Given the description of an element on the screen output the (x, y) to click on. 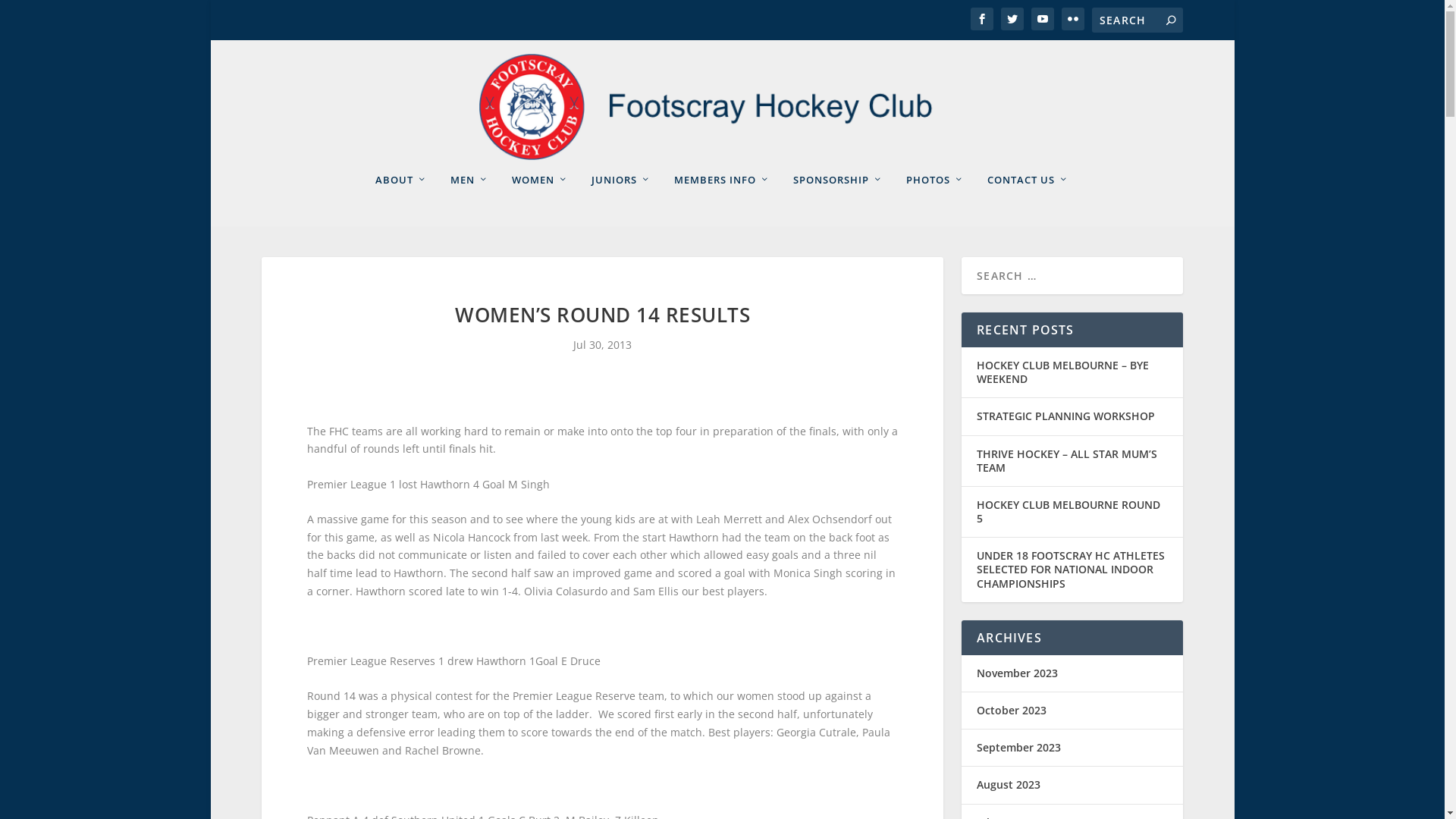
Search Element type: text (29, 14)
ABOUT Element type: text (401, 199)
MEMBERS INFO Element type: text (722, 199)
SPONSORSHIP Element type: text (838, 199)
November 2023 Element type: text (1016, 672)
August 2023 Element type: text (1008, 784)
JUNIORS Element type: text (621, 199)
WOMEN Element type: text (539, 199)
September 2023 Element type: text (1018, 747)
HOCKEY CLUB MELBOURNE ROUND 5 Element type: text (1068, 511)
October 2023 Element type: text (1011, 709)
MEN Element type: text (469, 199)
CONTACT US Element type: text (1028, 199)
Search for: Element type: hover (1137, 19)
PHOTOS Element type: text (935, 199)
STRATEGIC PLANNING WORKSHOP Element type: text (1065, 415)
